Given the description of an element on the screen output the (x, y) to click on. 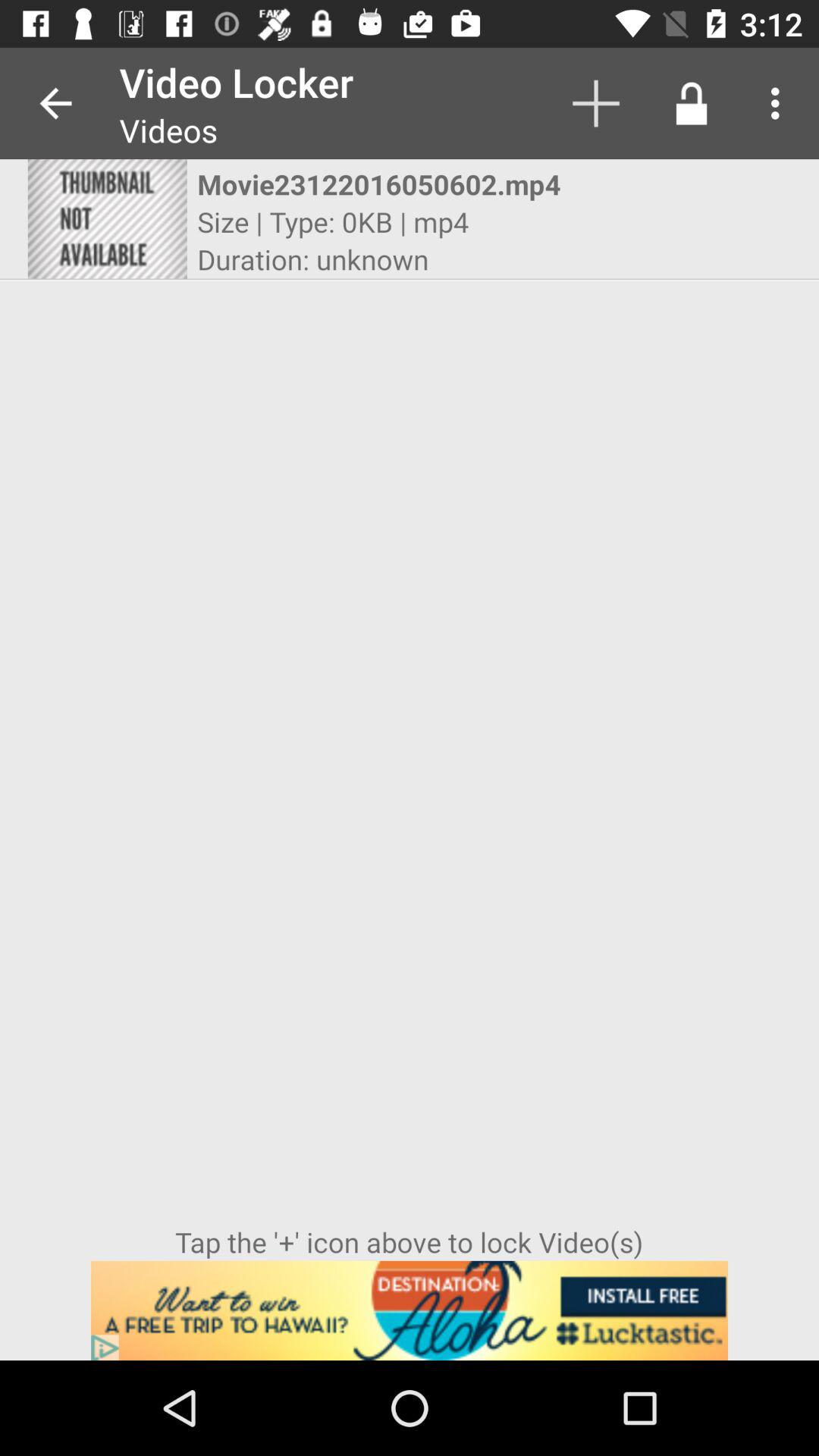
launch item to the right of the video locker app (595, 103)
